Given the description of an element on the screen output the (x, y) to click on. 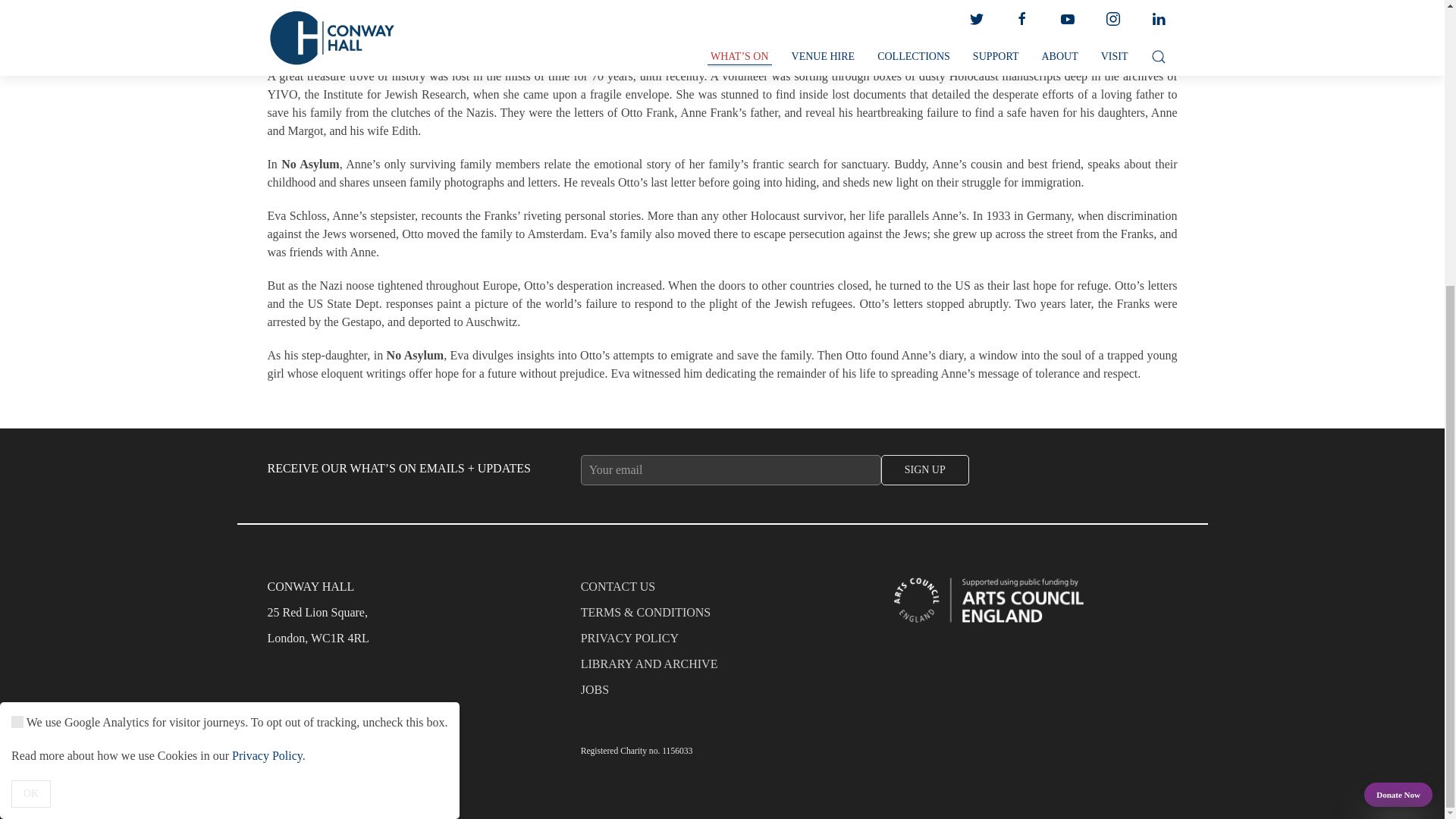
Privacy Policy (266, 324)
on (17, 291)
LIBRARY AND ARCHIVE (722, 667)
Sign Up (924, 470)
CONTACT US (722, 590)
JOBS (722, 693)
Sign Up (924, 470)
OK (30, 362)
Donate Now (1398, 363)
PRIVACY POLICY (722, 642)
